Given the description of an element on the screen output the (x, y) to click on. 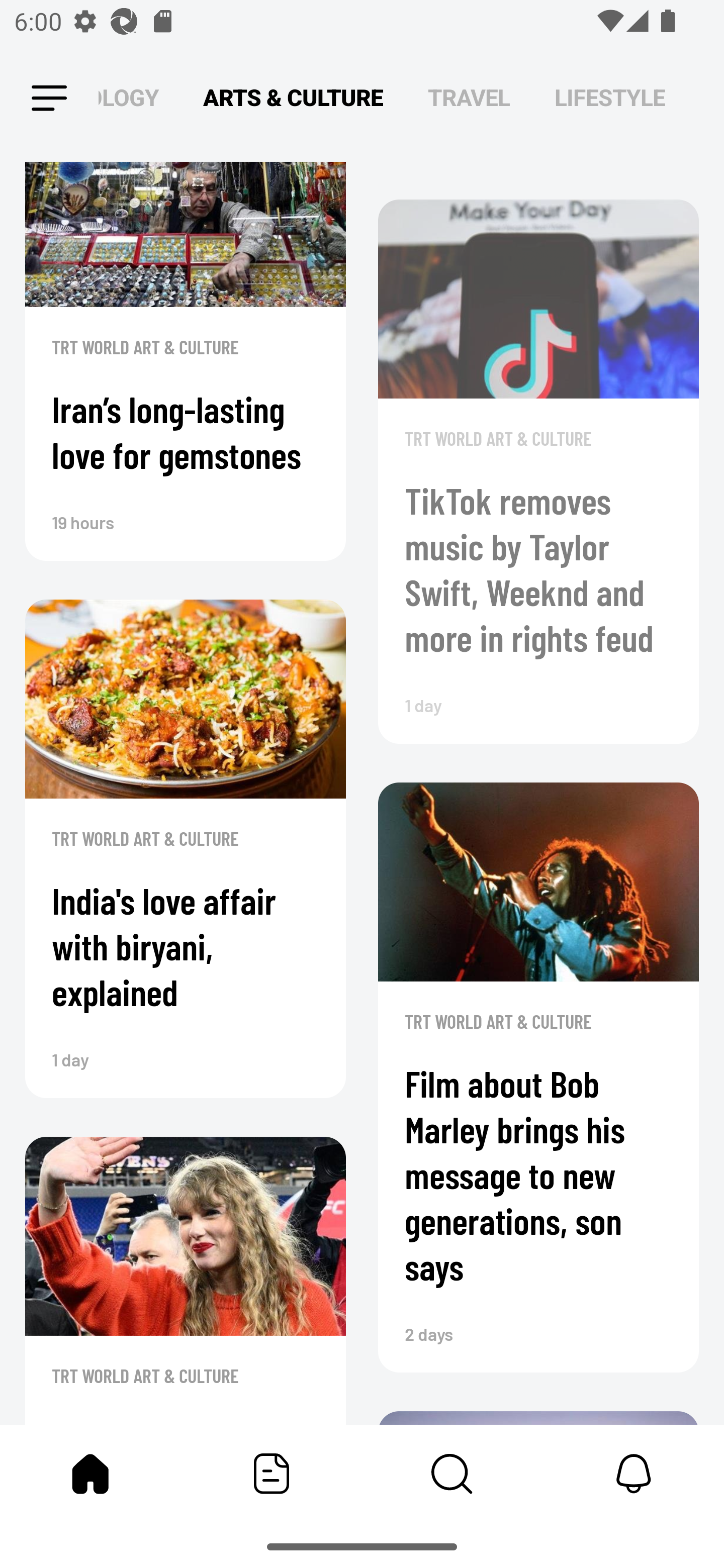
Leading Icon (49, 98)
TECHNOLOGY (128, 97)
TRAVEL (469, 97)
LIFESTYLE (609, 97)
Featured (271, 1473)
Content Store (452, 1473)
Notifications (633, 1473)
